Given the description of an element on the screen output the (x, y) to click on. 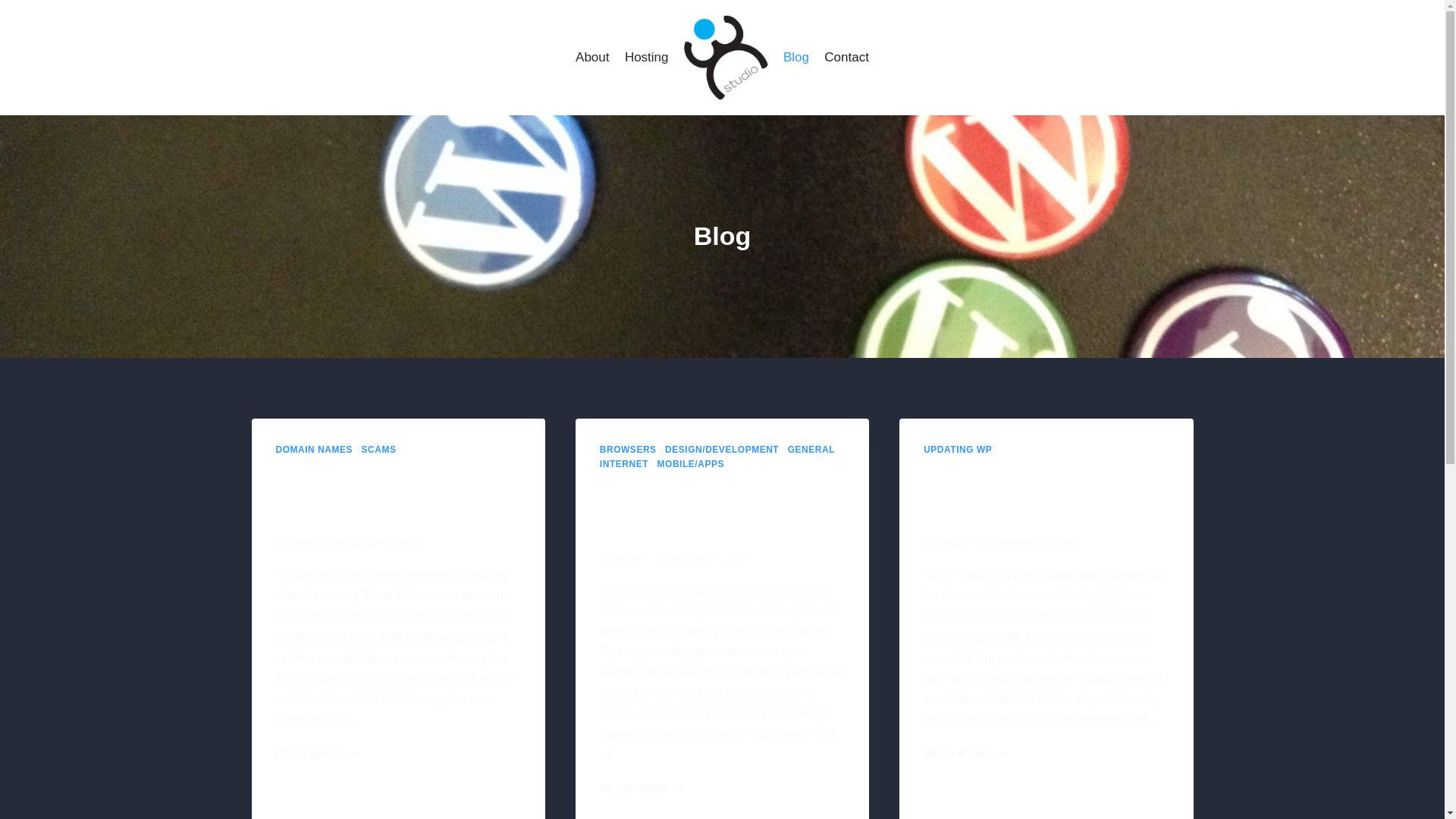
stevec (628, 557)
predatory domain name renewal solicitations (396, 493)
SCAMS (378, 449)
stevec (952, 542)
Hosting (647, 57)
WordPress 4.0 Thoughts (996, 493)
DOMAIN NAMES (314, 449)
stevec (640, 788)
About (304, 542)
